Given the description of an element on the screen output the (x, y) to click on. 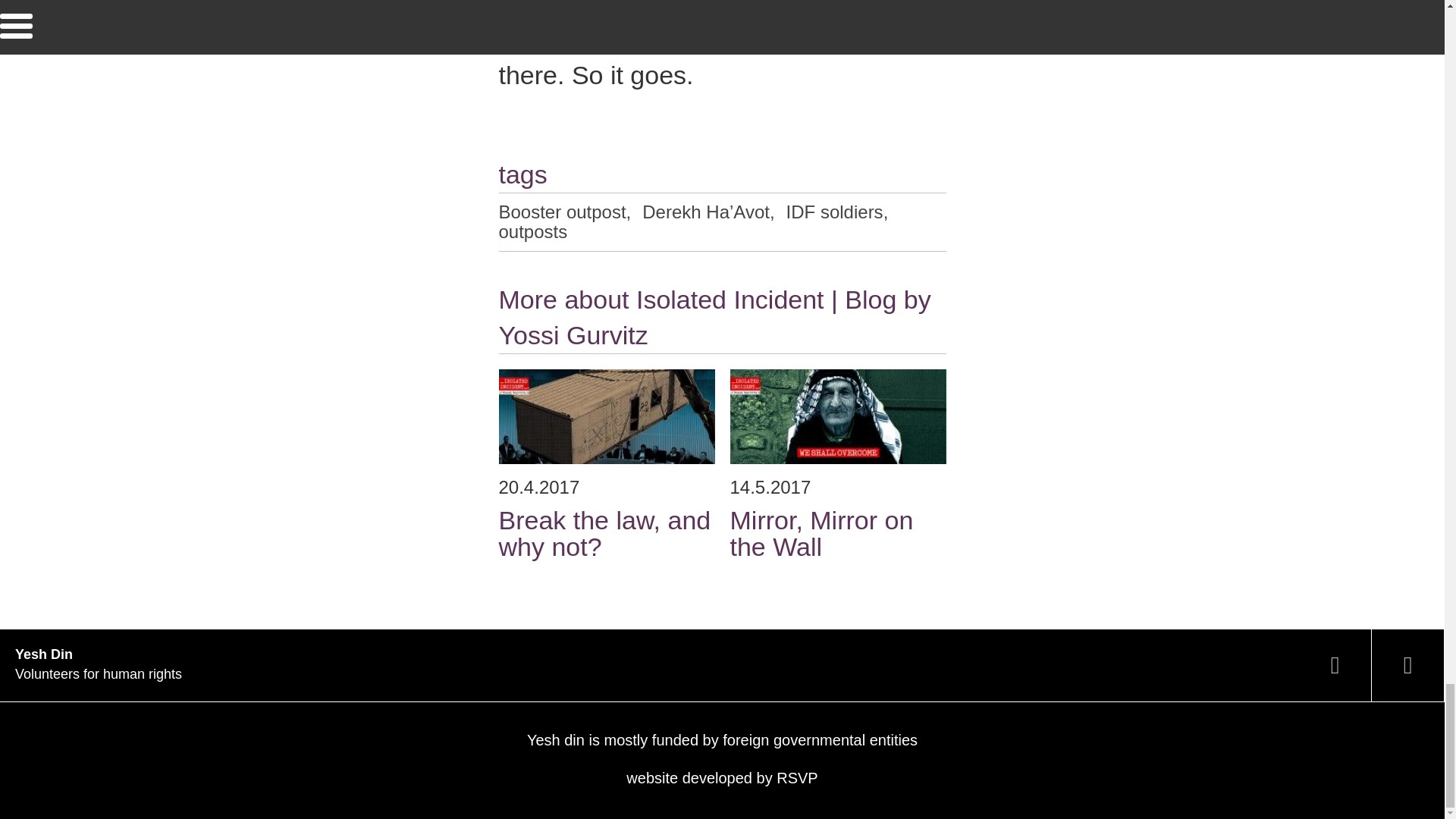
IDF soldiers (836, 464)
Booster outpost (834, 211)
Crime post - eng - wide (562, 211)
website developed by RSVP (606, 416)
outposts (721, 777)
